Given the description of an element on the screen output the (x, y) to click on. 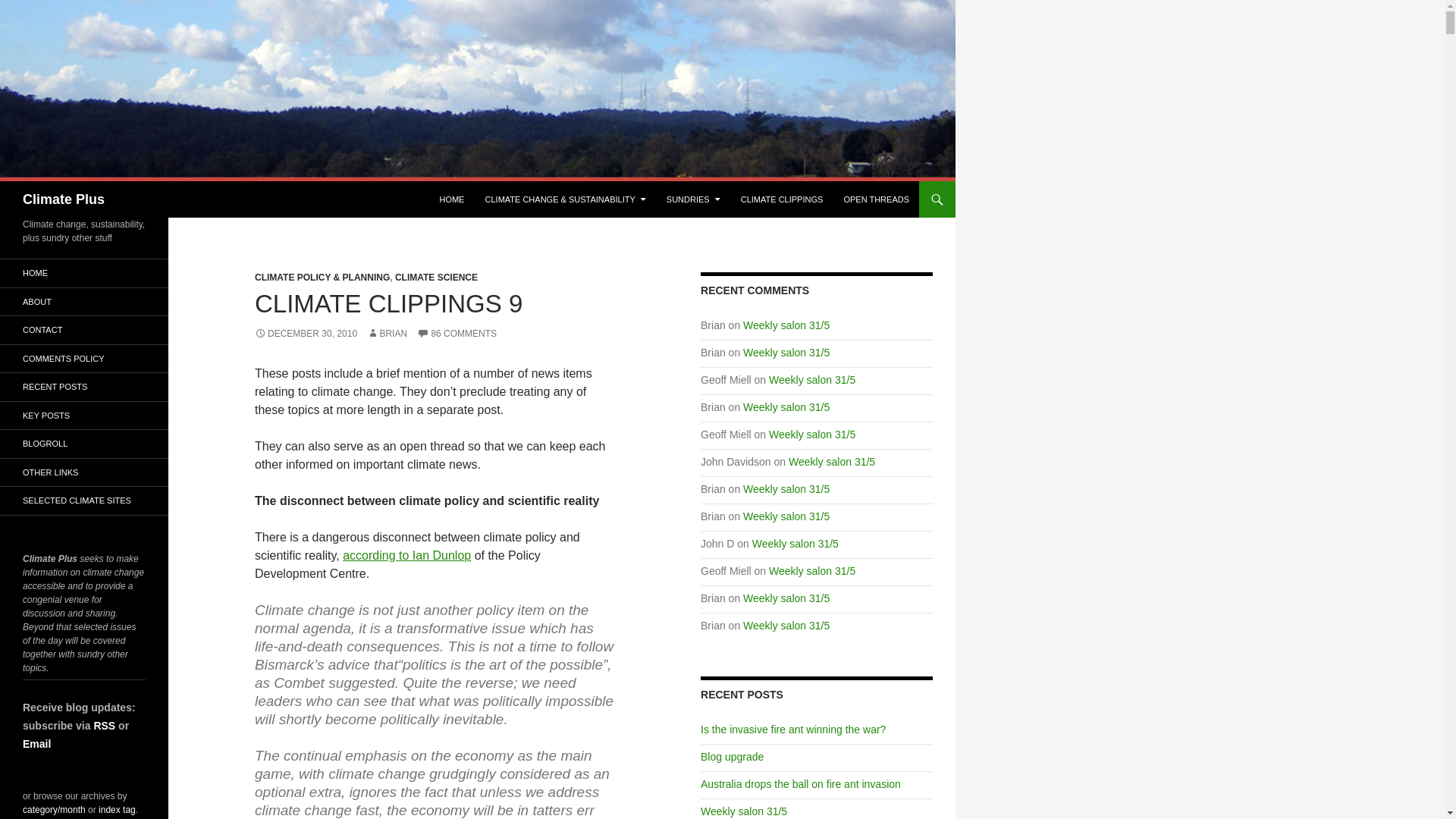
Posts archived indexed by topical tag (117, 808)
Climate Plus (63, 198)
according to Ian Dunlop (406, 554)
DECEMBER 30, 2010 (305, 333)
SUNDRIES (693, 198)
Go to sign-up form (36, 743)
86 COMMENTS (456, 333)
CLIMATE SCIENCE (435, 276)
